Given the description of an element on the screen output the (x, y) to click on. 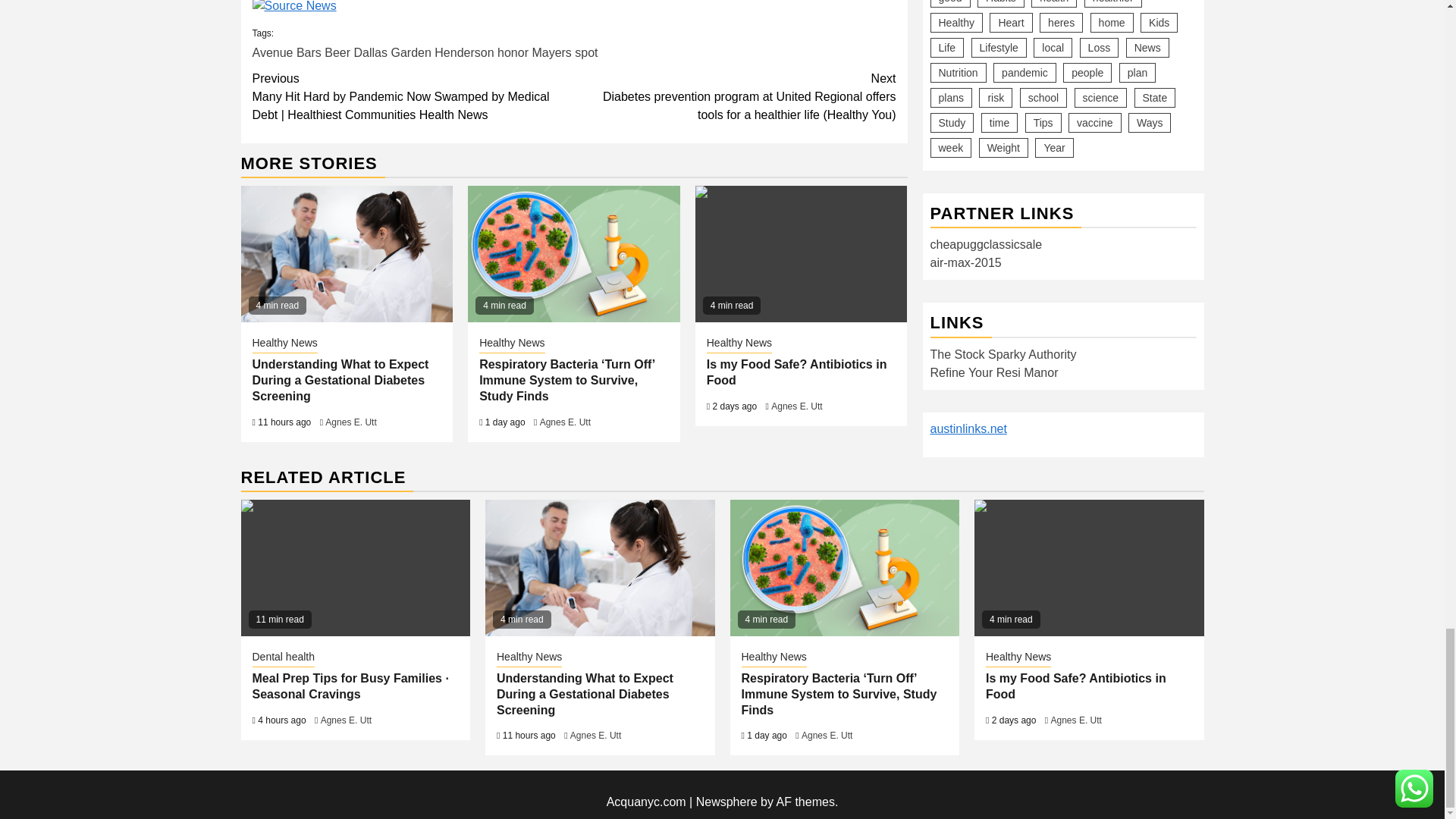
Is my Food Safe? Antibiotics in Food (1089, 567)
Dallas (370, 51)
Mayers (550, 51)
Tags: (573, 42)
Henderson (463, 51)
honor (512, 51)
Is my Food Safe? Antibiotics in Food (801, 253)
Bars (309, 51)
Beer (337, 51)
spot (585, 51)
Avenue (271, 51)
Garden (410, 51)
Healthy News (284, 343)
